Given the description of an element on the screen output the (x, y) to click on. 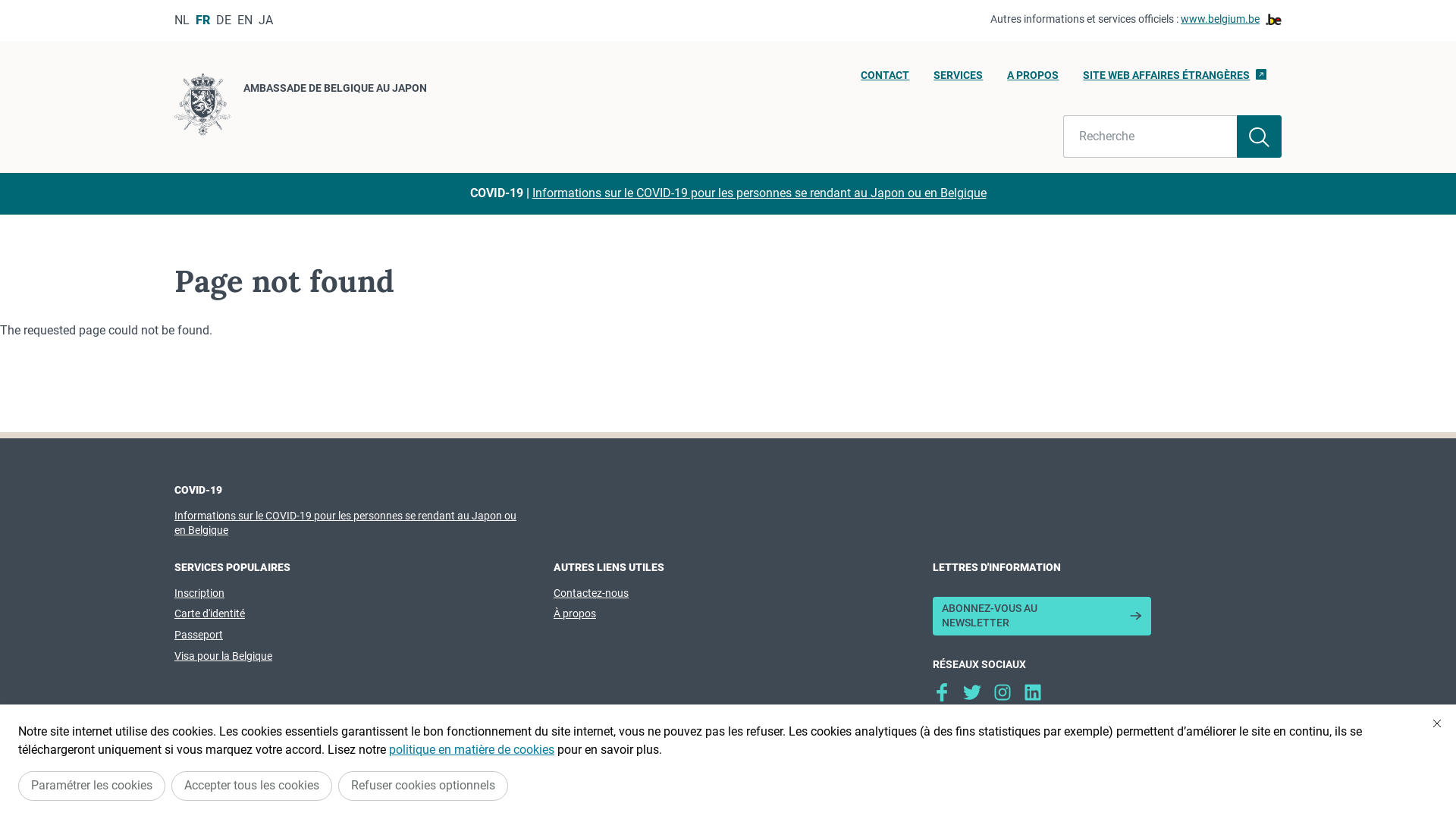
Belgian Embassy Japan Element type: text (1002, 692)
DE Element type: text (223, 19)
Recherche Element type: hover (1149, 136)
Passeport Element type: text (198, 634)
Accepter tous les cookies Element type: text (251, 785)
Embassy of Belgium in Tokyo Element type: text (1032, 692)
AMBASSADE DE BELGIQUE AU JAPON Element type: text (300, 106)
Visa pour la Belgique Element type: text (223, 655)
FR Element type: text (202, 19)
Fermer Element type: hover (1436, 723)
Embassy of Belgium in Tokyo Element type: text (941, 692)
CONTACT Element type: text (884, 79)
NL Element type: text (181, 19)
www.belgium.be Element type: text (1230, 19)
Refuser cookies optionnels Element type: text (423, 785)
JA Element type: text (265, 19)
A PROPOS Element type: text (1032, 79)
Belgium in Japan Element type: text (972, 692)
EN Element type: text (244, 19)
Inscription Element type: text (199, 592)
Filtrer Element type: text (1258, 136)
SERVICES Element type: text (957, 79)
Contactez-nous Element type: text (590, 592)
Skip to main content Element type: text (7, 4)
